Given the description of an element on the screen output the (x, y) to click on. 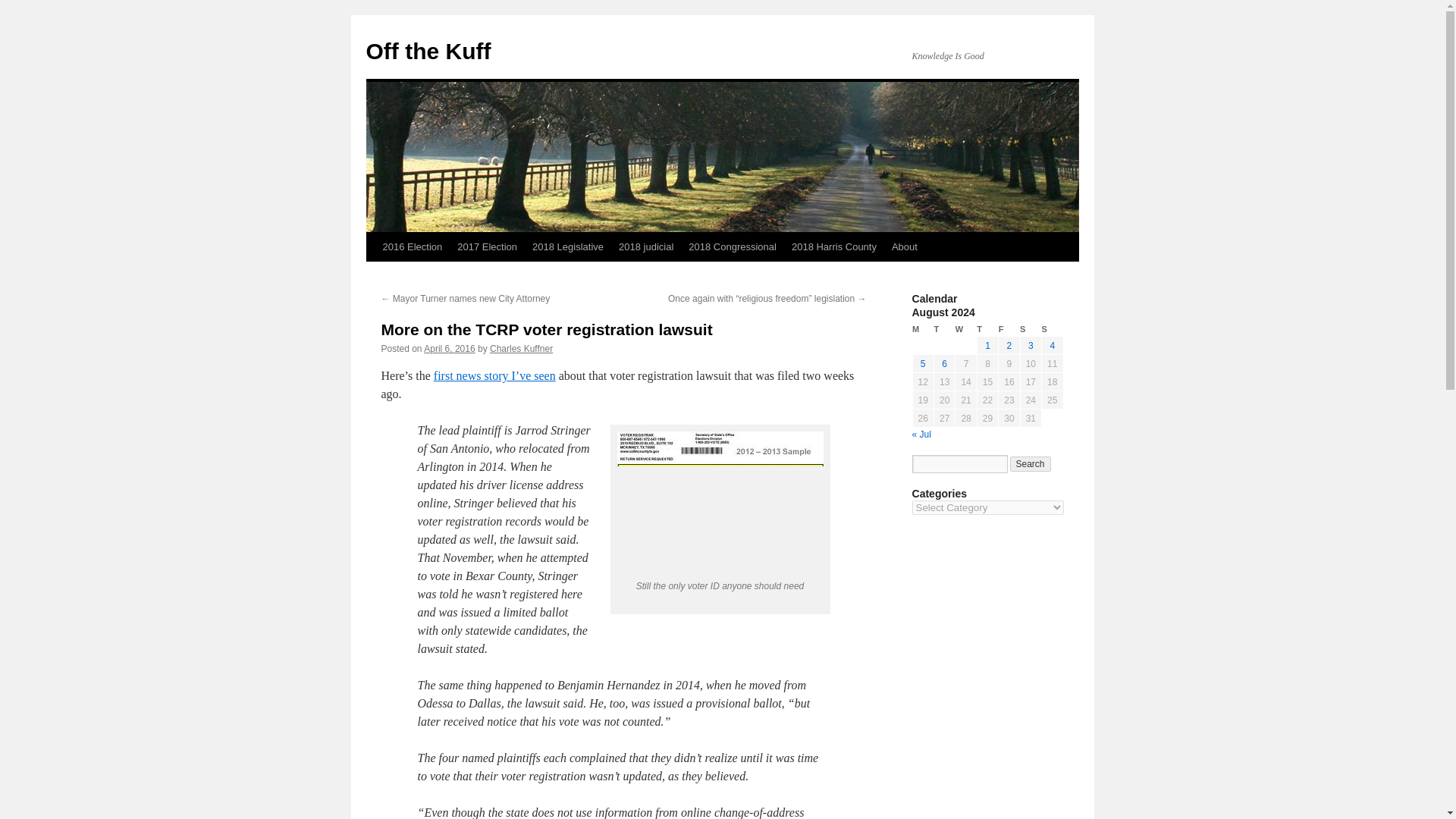
2018 Harris County (833, 246)
Saturday (1030, 329)
4:53 am (448, 348)
Charles Kuffner (521, 348)
About (903, 246)
Monday (922, 329)
Tuesday (944, 329)
Wednesday (965, 329)
Thursday (986, 329)
April 6, 2016 (448, 348)
1 (987, 345)
Skip to content (372, 274)
6 (944, 363)
4 (1051, 345)
2018 Legislative (567, 246)
